Given the description of an element on the screen output the (x, y) to click on. 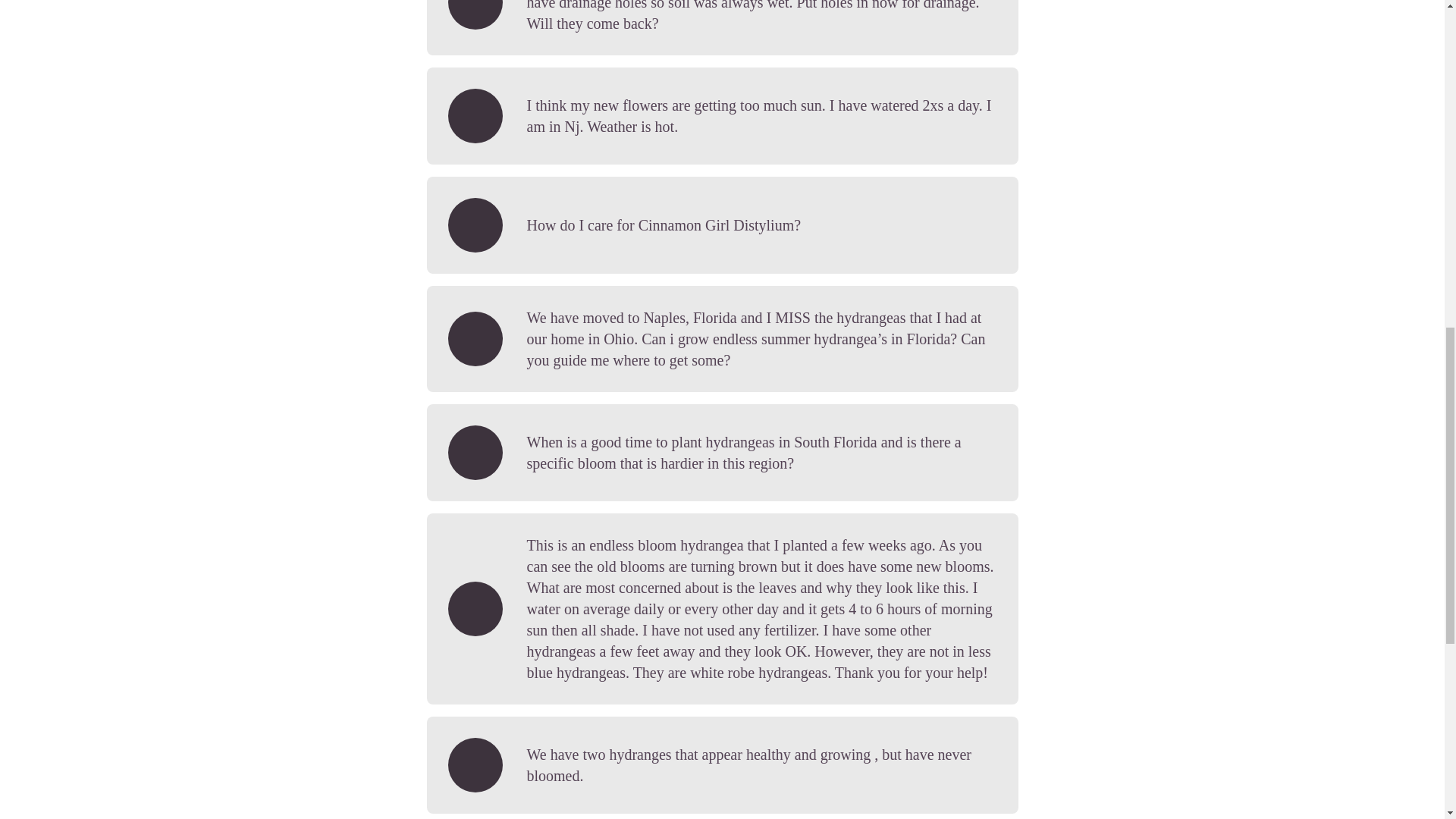
How do I care for Cinnamon Girl Distylium? (721, 224)
